Given the description of an element on the screen output the (x, y) to click on. 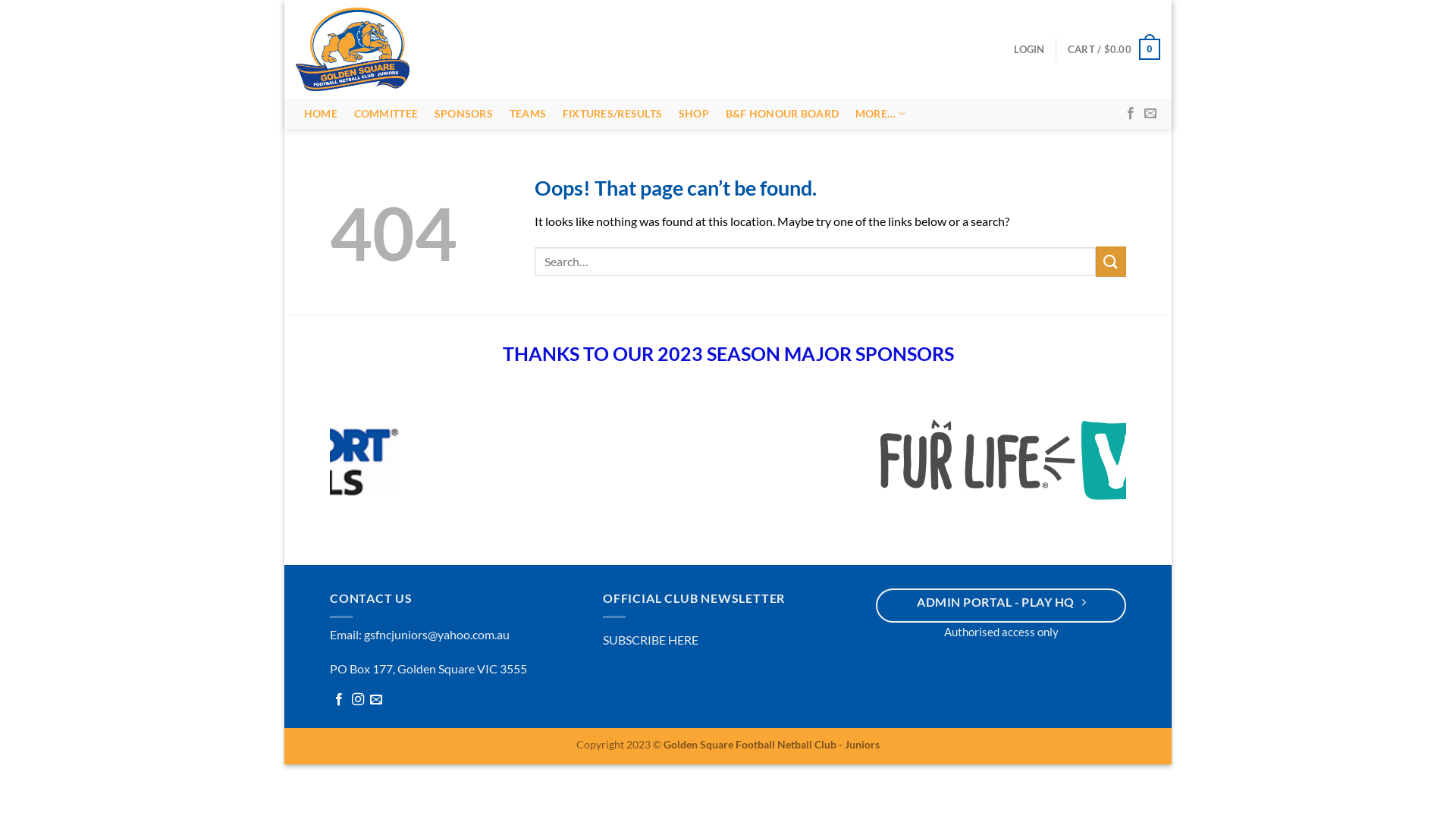
FIXTURES/RESULTS Element type: text (612, 113)
COMMITTEE Element type: text (385, 113)
GSFNC - Junior Football and Netball club Element type: hover (356, 49)
SPONSORS Element type: text (463, 113)
ADMIN PORTAL - PLAY HQ Element type: text (1000, 608)
B&F HONOUR BOARD Element type: text (782, 113)
Follow on Instagram Element type: hover (357, 703)
SHOP Element type: text (693, 113)
Follow on Facebook Element type: hover (338, 703)
LOGIN Element type: text (1028, 48)
Send us an email Element type: hover (376, 703)
SUBSCRIBE HERE Element type: text (650, 642)
TEAMS Element type: text (527, 113)
CART / $0.00
0 Element type: text (1113, 49)
gsfncjuniors@yahoo.com.au Element type: text (436, 637)
Send us an email Element type: hover (1150, 113)
HOME Element type: text (320, 113)
Follow on Facebook Element type: hover (1130, 113)
